Given the description of an element on the screen output the (x, y) to click on. 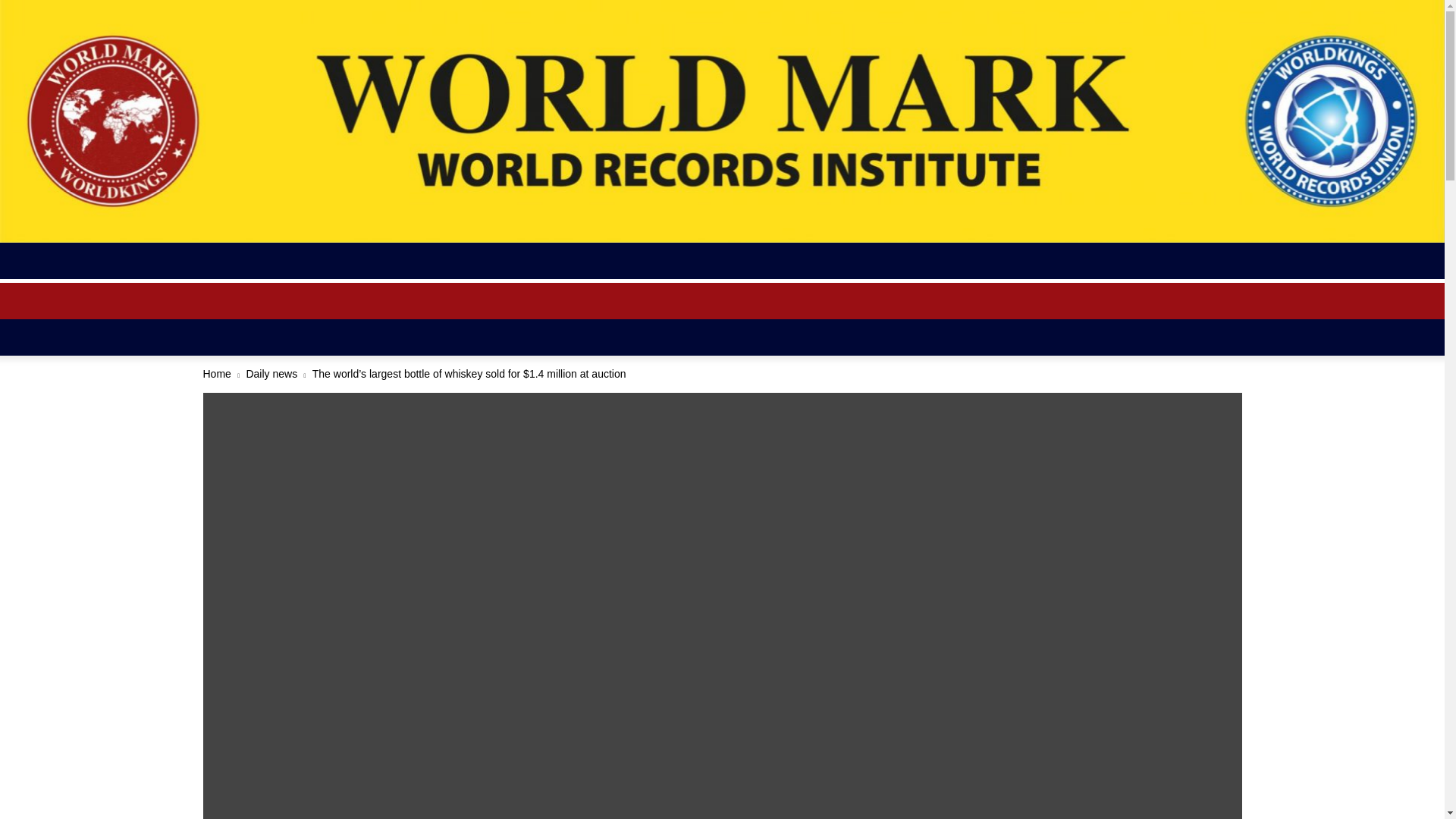
Home (217, 373)
View all posts in Daily news (271, 373)
Daily news (271, 373)
